Given the description of an element on the screen output the (x, y) to click on. 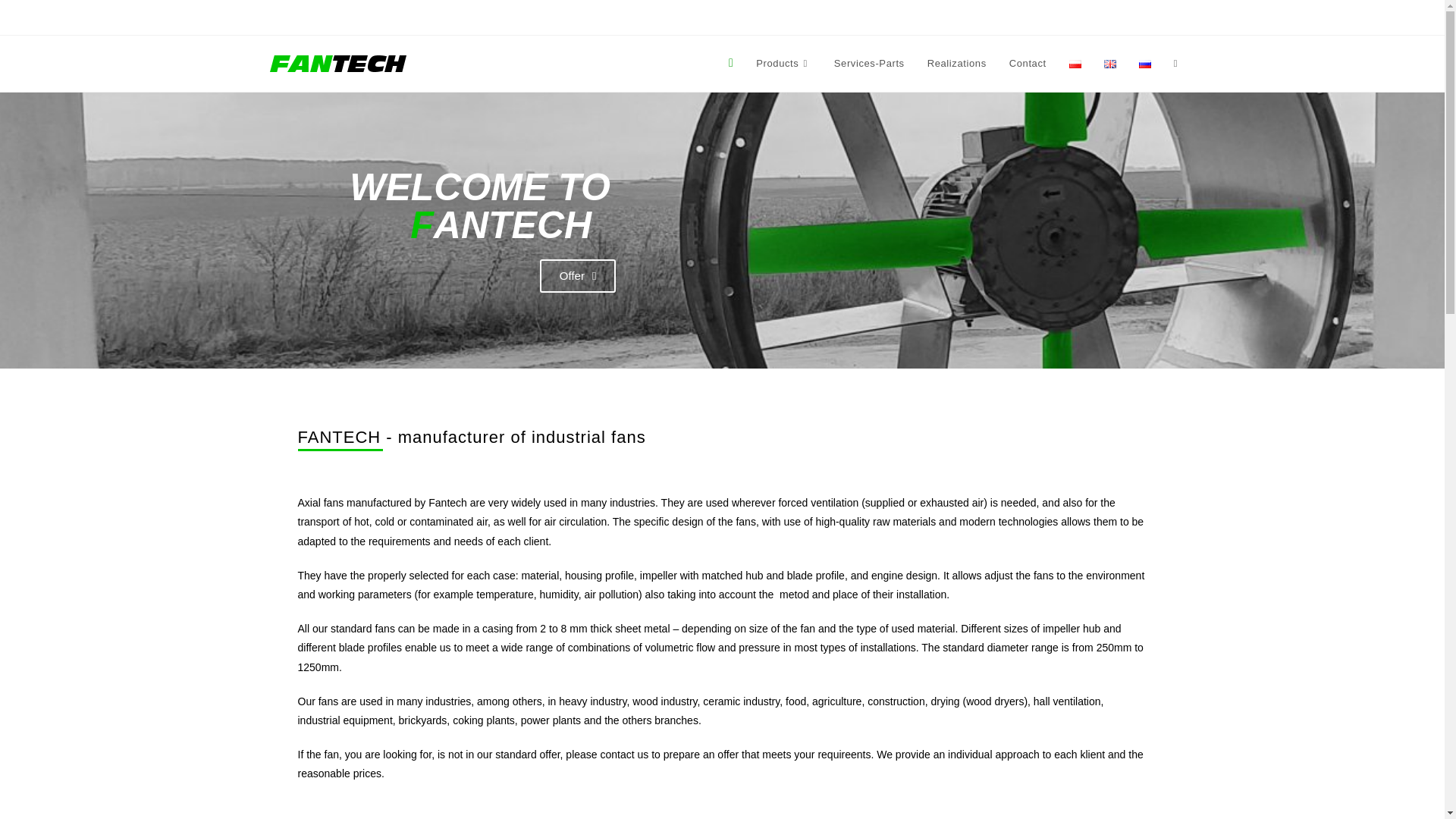
Products (783, 63)
Services-Parts (868, 63)
Contact (1027, 63)
Realizations (956, 63)
